Given the description of an element on the screen output the (x, y) to click on. 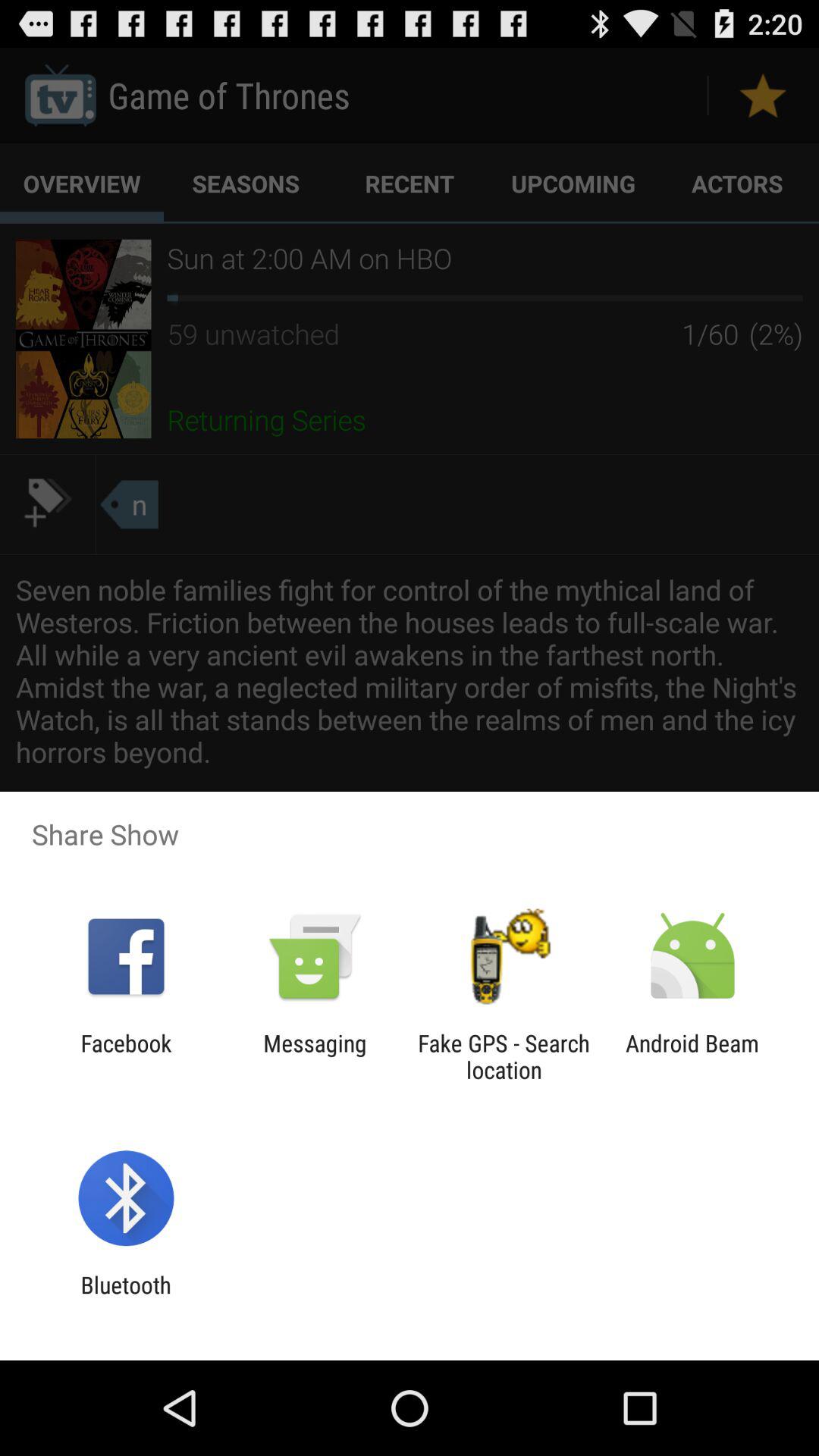
scroll until the bluetooth item (125, 1298)
